Given the description of an element on the screen output the (x, y) to click on. 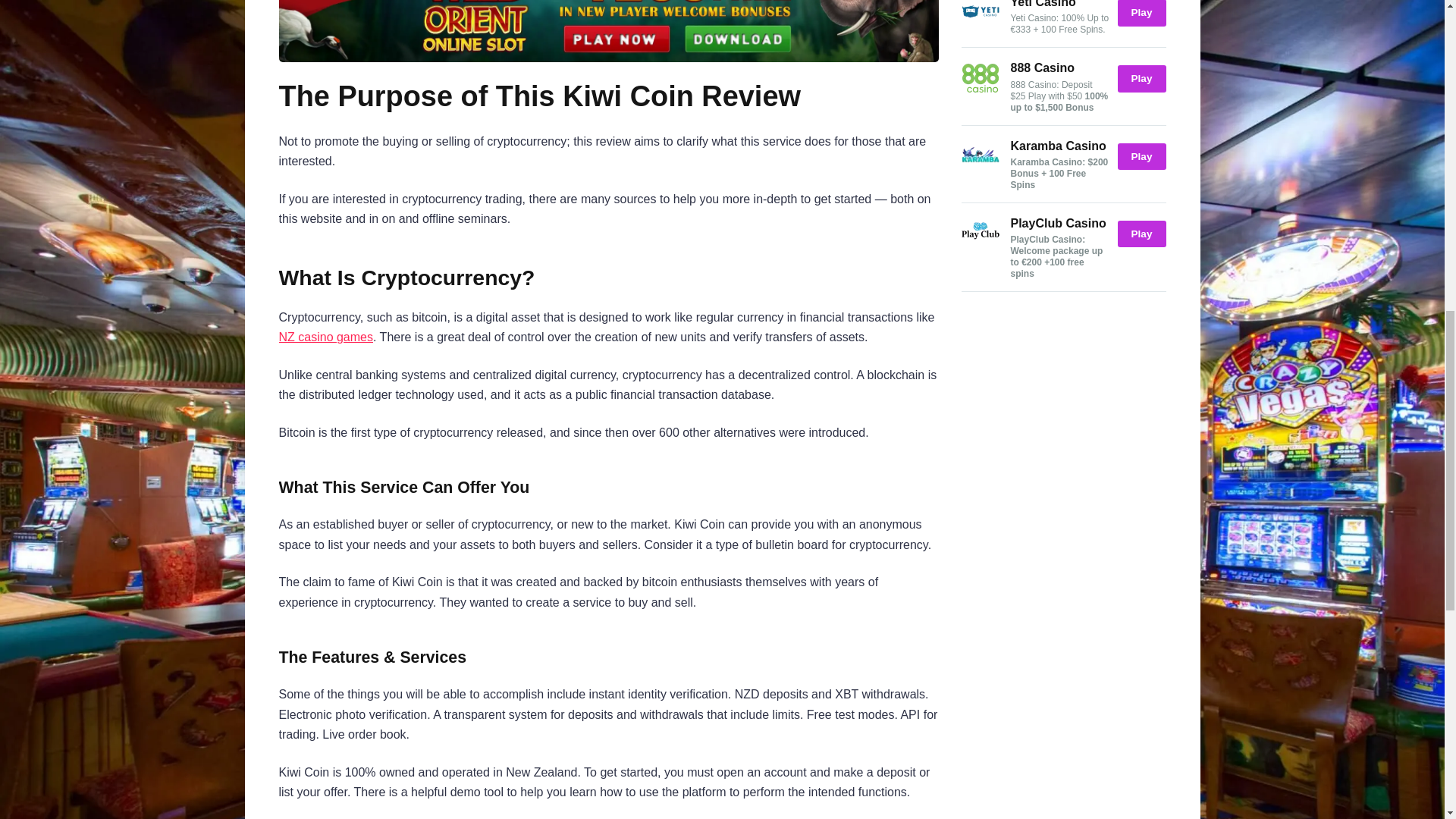
NZ casino games (326, 336)
